Given the description of an element on the screen output the (x, y) to click on. 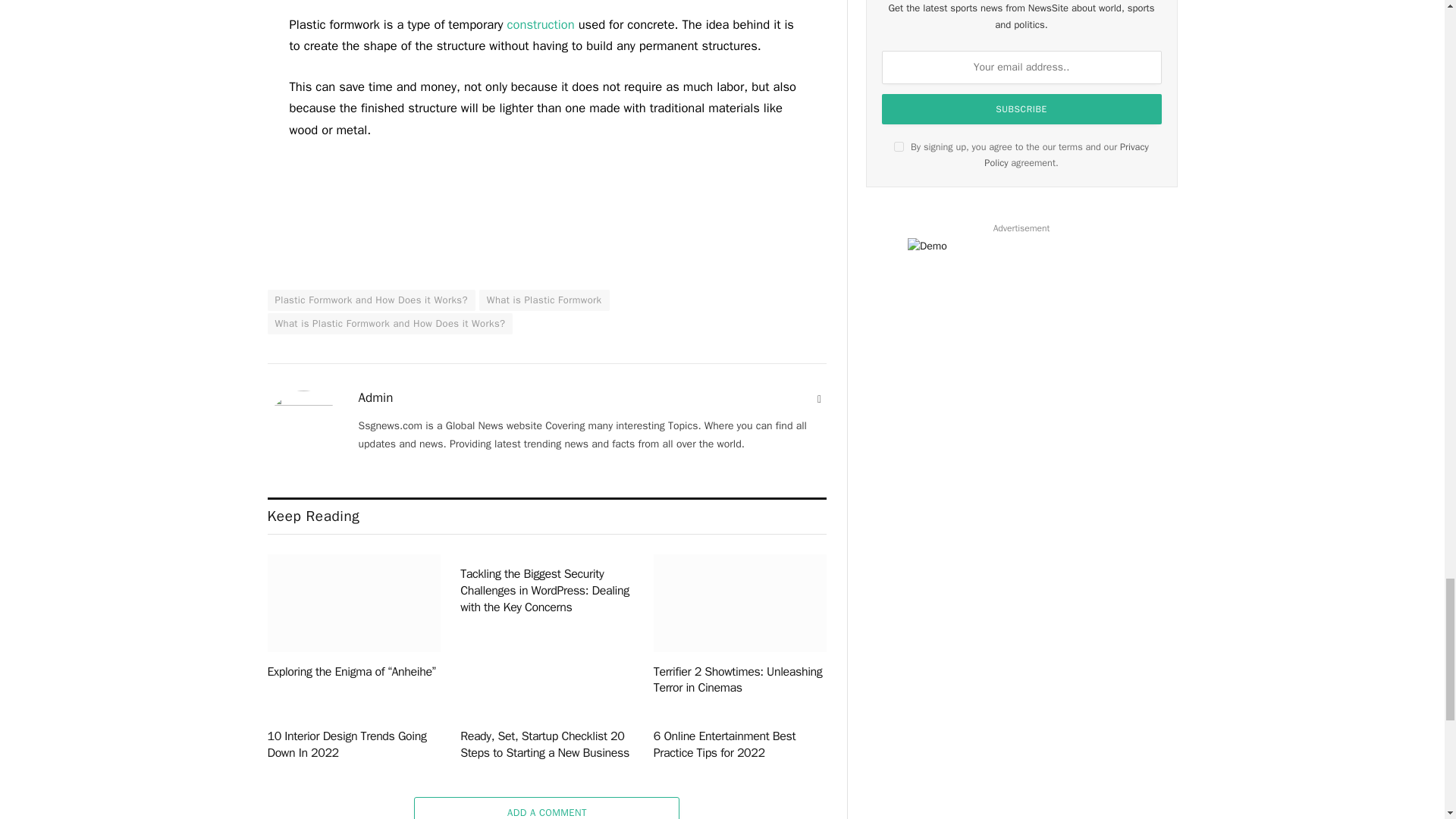
Posts by Admin (375, 397)
on (898, 146)
Subscribe (1021, 109)
Website (818, 399)
